Given the description of an element on the screen output the (x, y) to click on. 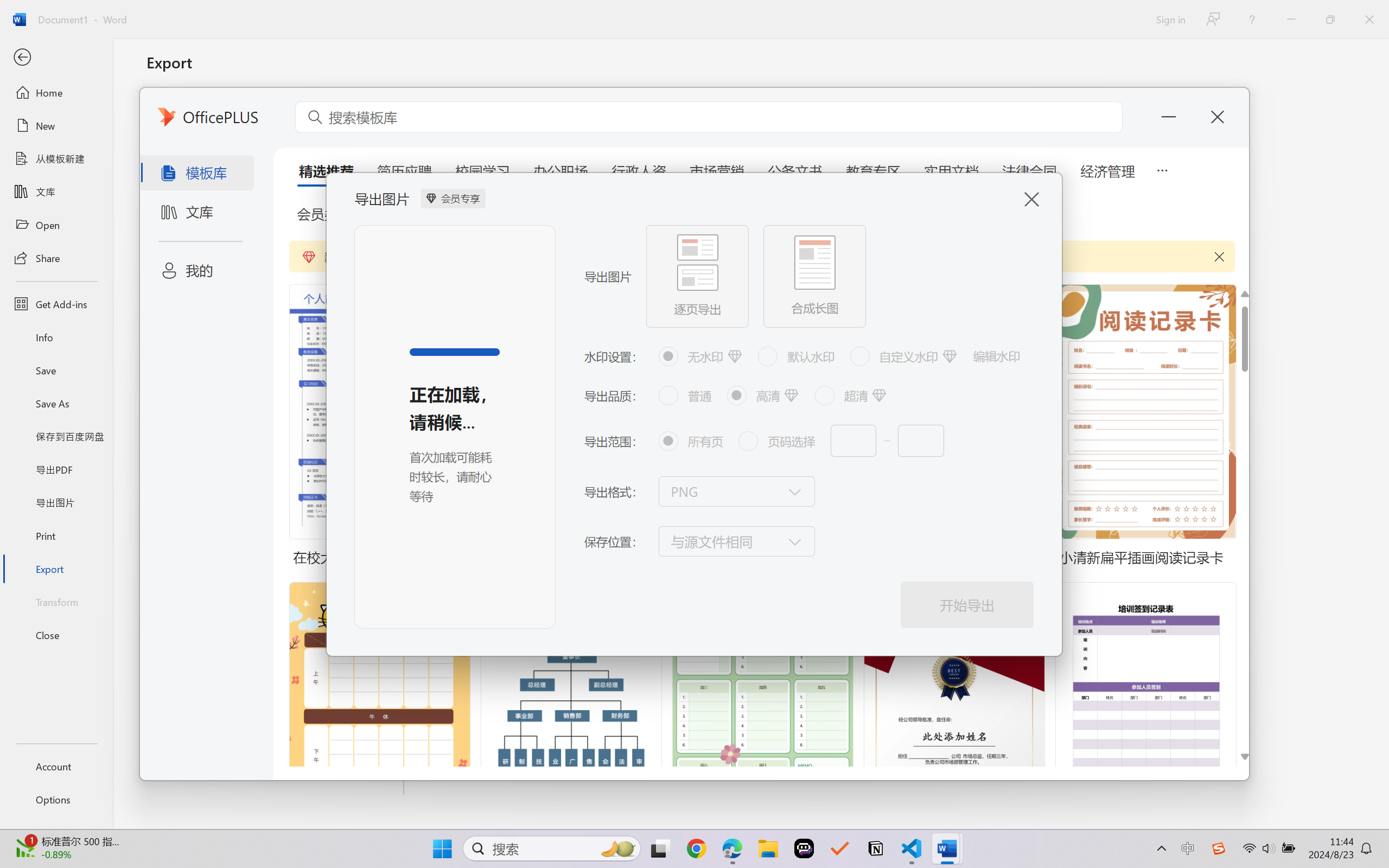
Export (56, 568)
Get Add-ins (56, 303)
Back (56, 57)
